Given the description of an element on the screen output the (x, y) to click on. 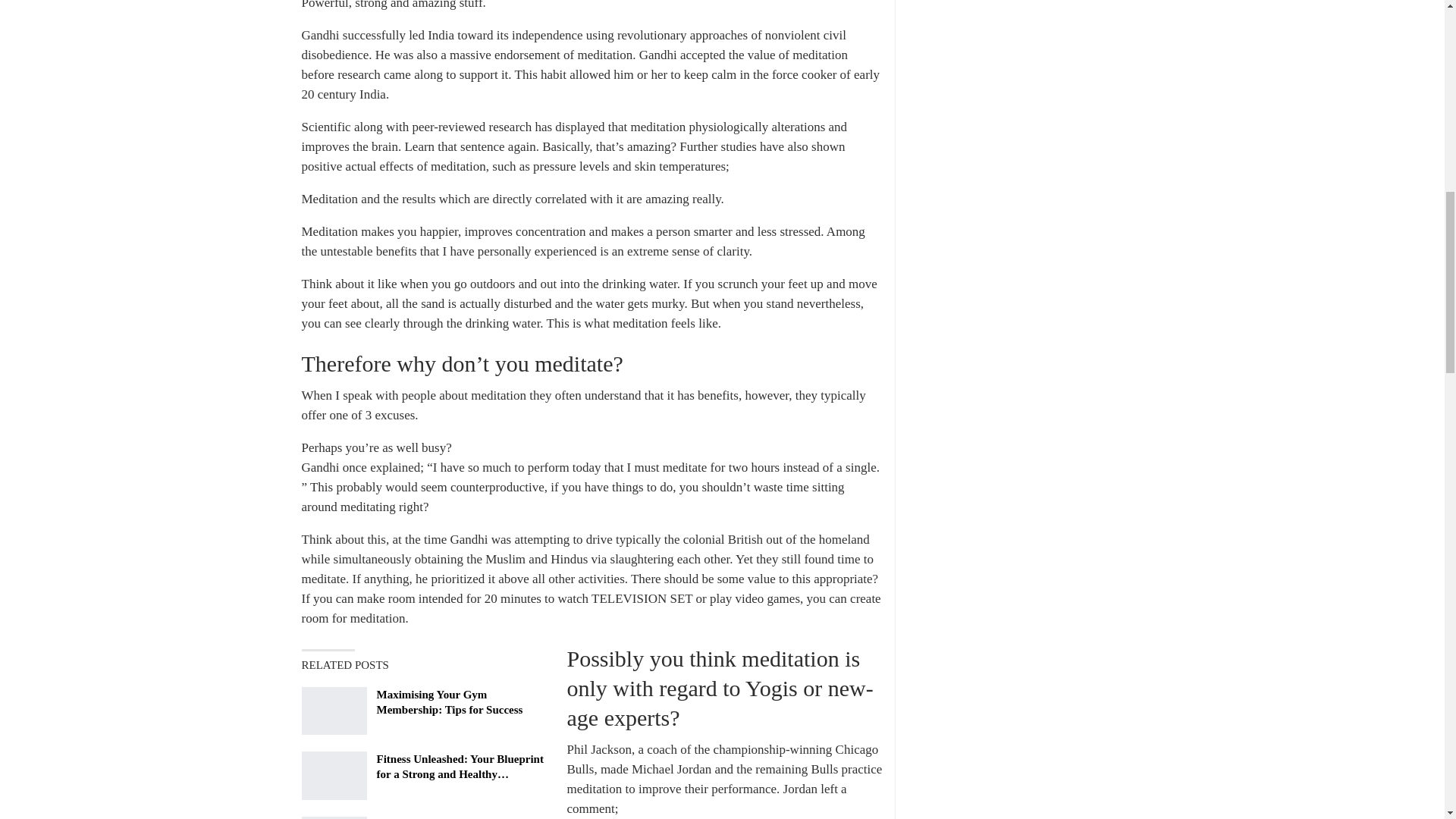
Maximising Your Gym Membership: Tips for Success (333, 711)
